Given the description of an element on the screen output the (x, y) to click on. 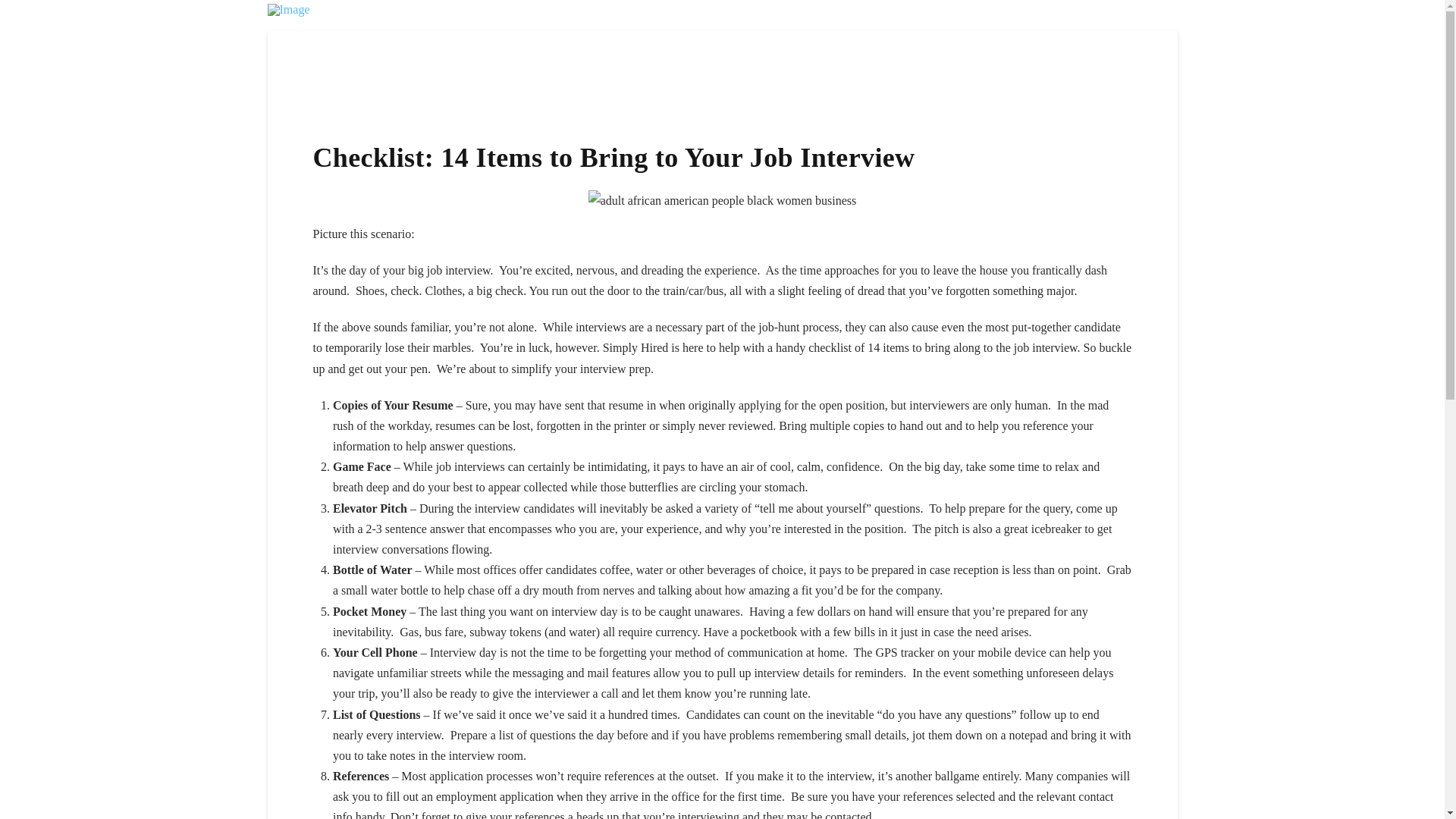
FIND WORK (663, 36)
CONTACT (1122, 36)
ABOUT (895, 36)
FIND STAFF (787, 36)
RESOURCES (1004, 36)
